Given the description of an element on the screen output the (x, y) to click on. 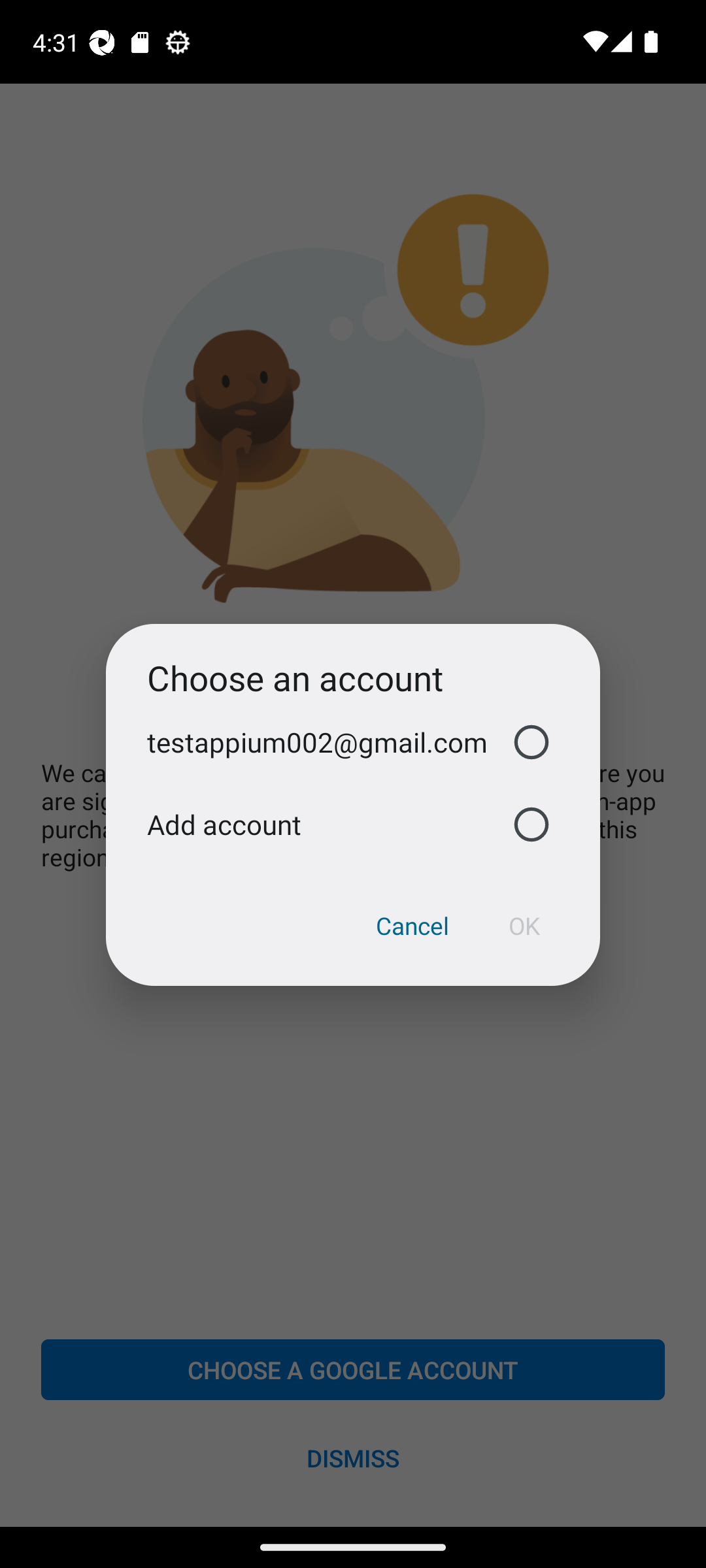
testappium002@gmail.com (352, 742)
Add account (352, 824)
Cancel (412, 925)
OK (523, 925)
